Given the description of an element on the screen output the (x, y) to click on. 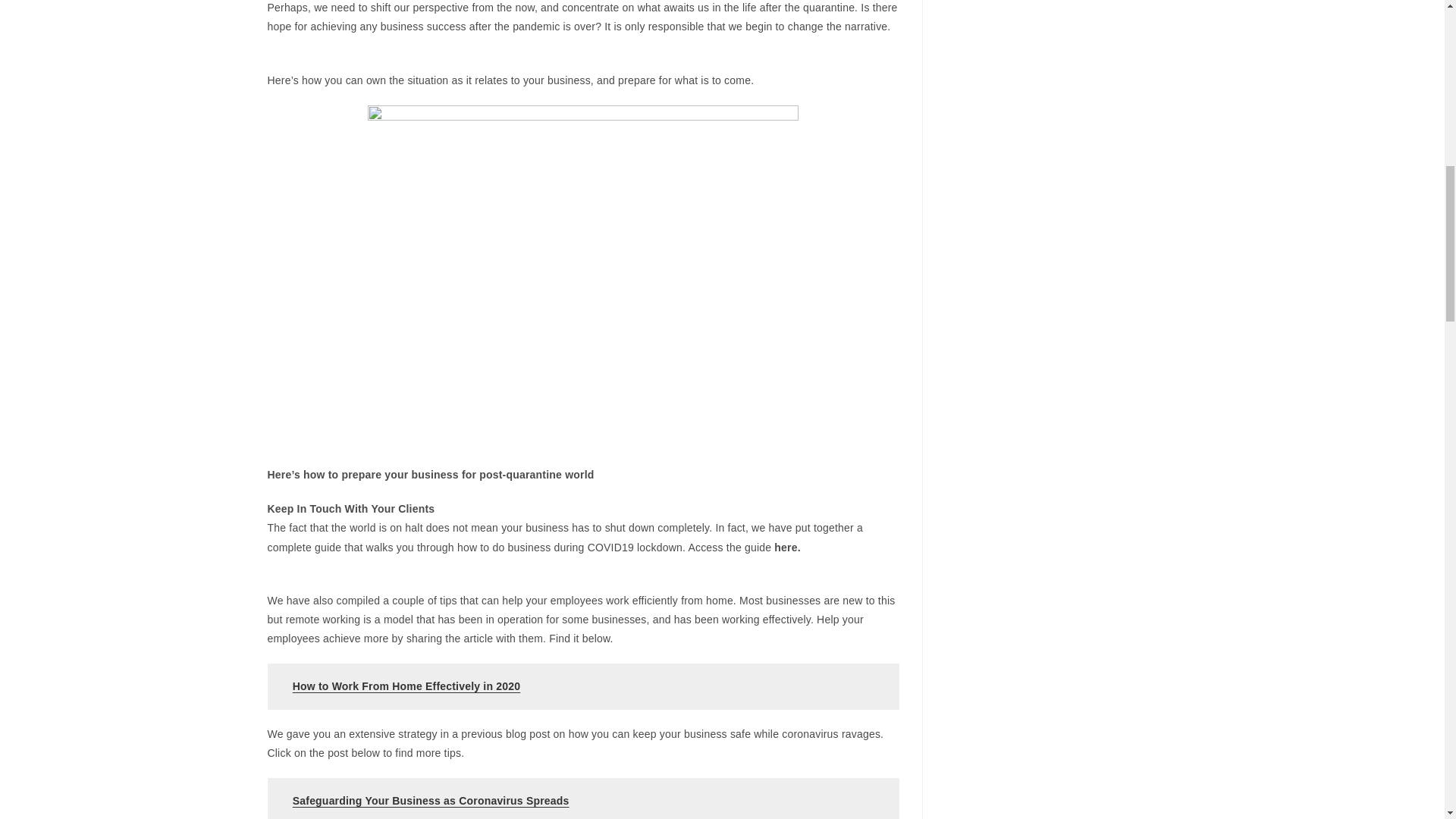
How to Work From Home Effectively in 2020 (405, 686)
Safeguarding Your Business as Coronavirus Spreads (430, 800)
